Given the description of an element on the screen output the (x, y) to click on. 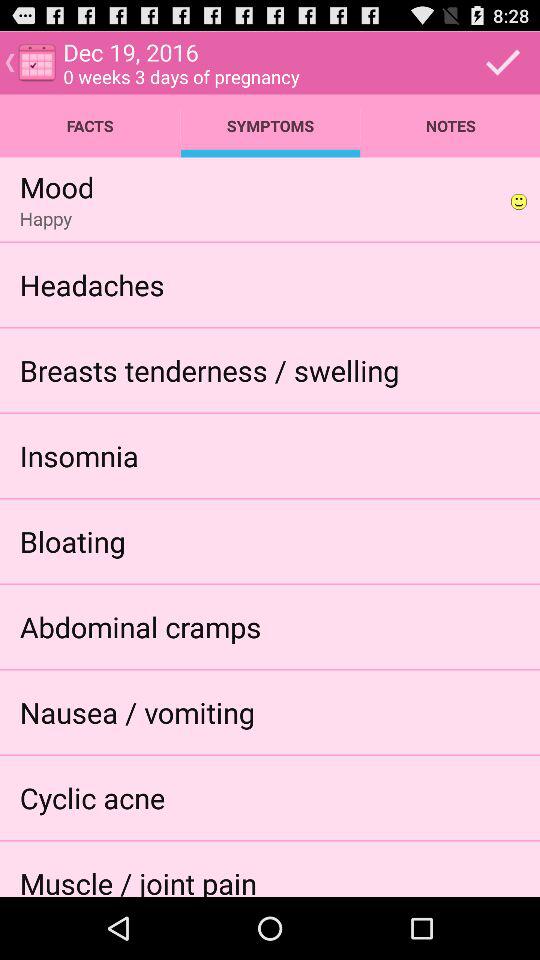
tap app next to 0 weeks 3 icon (503, 62)
